Given the description of an element on the screen output the (x, y) to click on. 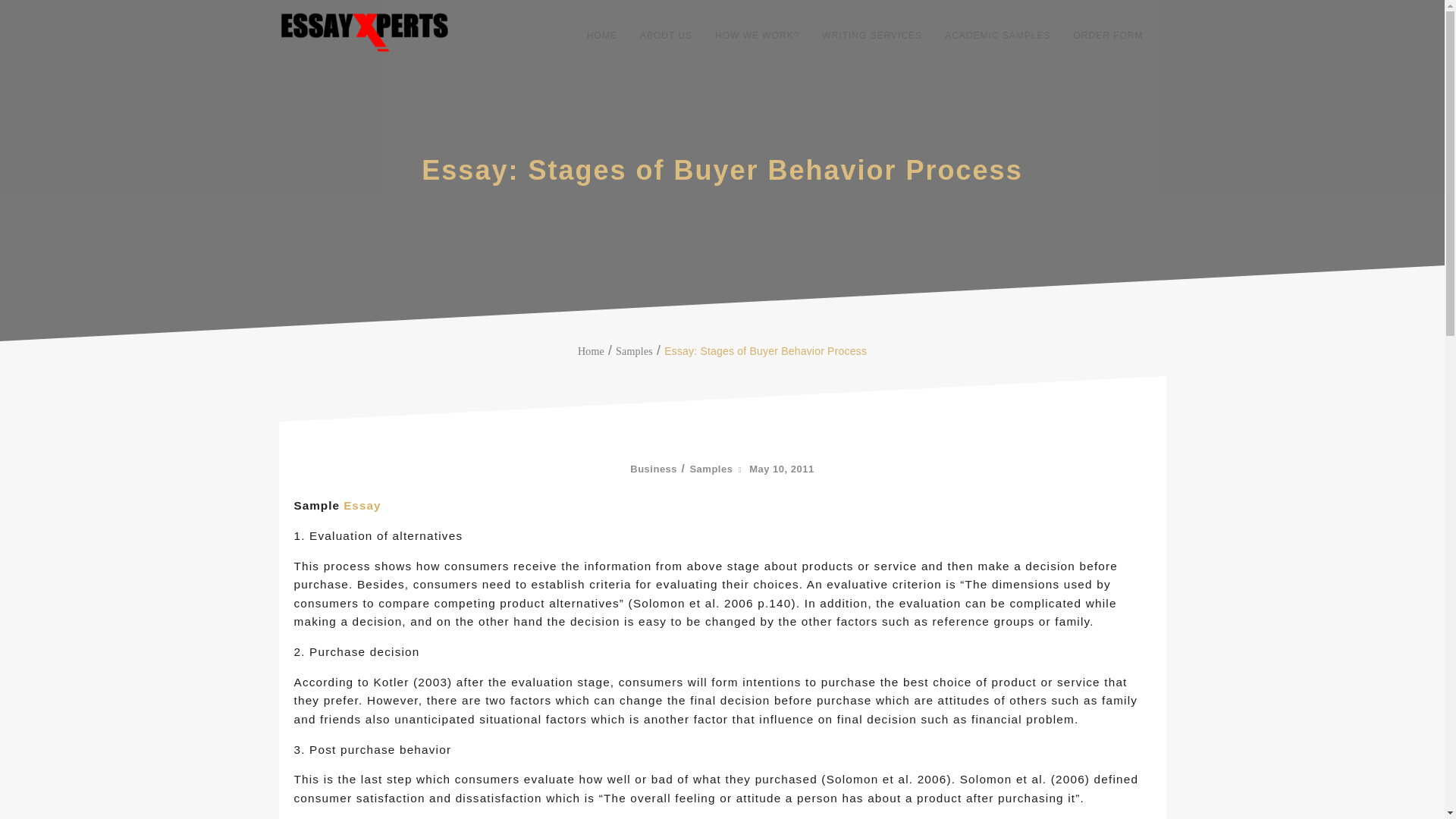
WRITING SERVICES (871, 35)
ABOUT US (666, 35)
ACADEMIC SAMPLES (996, 35)
HOME (601, 35)
HOW WE WORK? (756, 35)
